Given the description of an element on the screen output the (x, y) to click on. 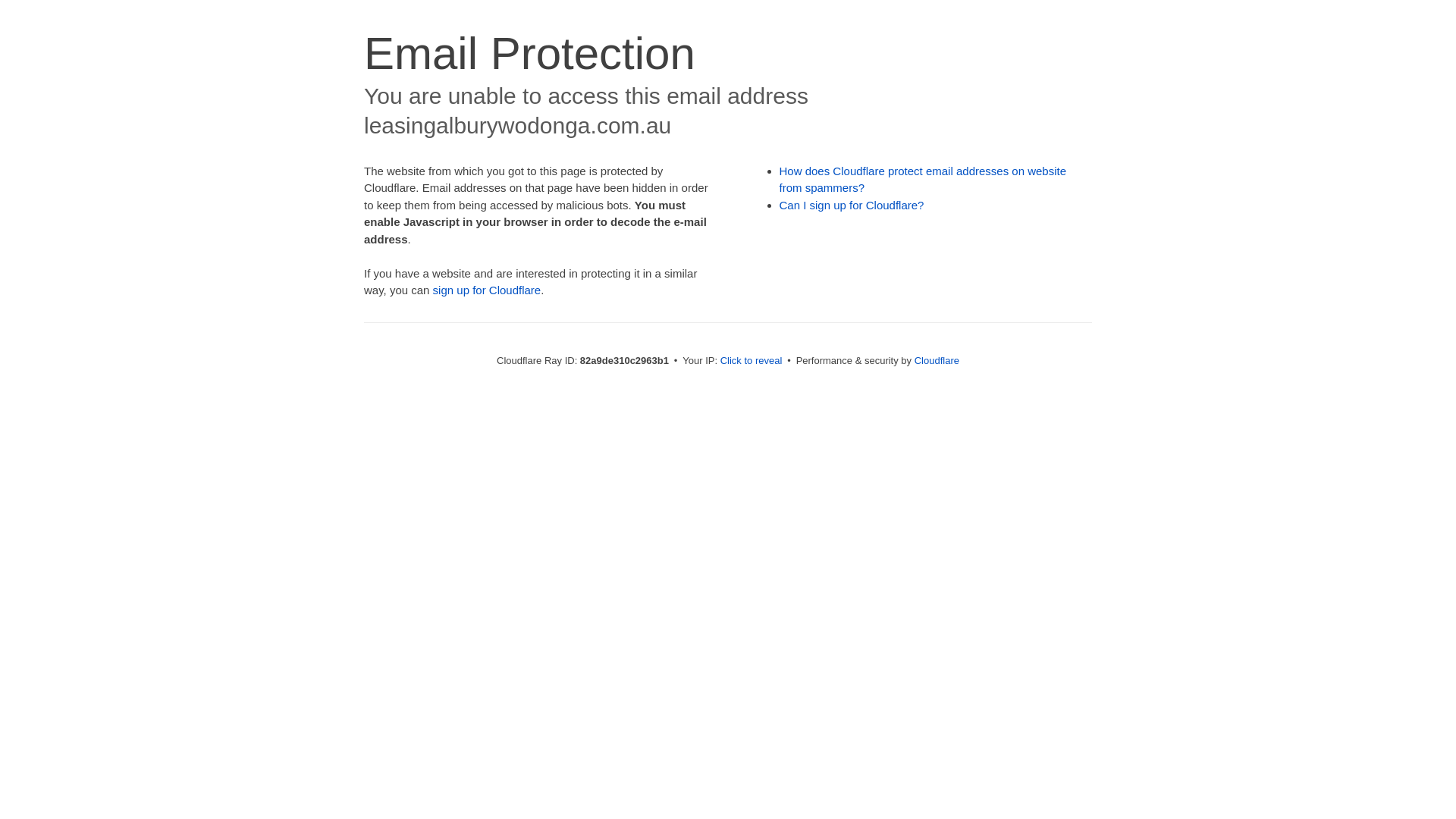
sign up for Cloudflare Element type: text (487, 289)
Cloudflare Element type: text (936, 360)
Can I sign up for Cloudflare? Element type: text (851, 204)
Click to reveal Element type: text (751, 360)
